Given the description of an element on the screen output the (x, y) to click on. 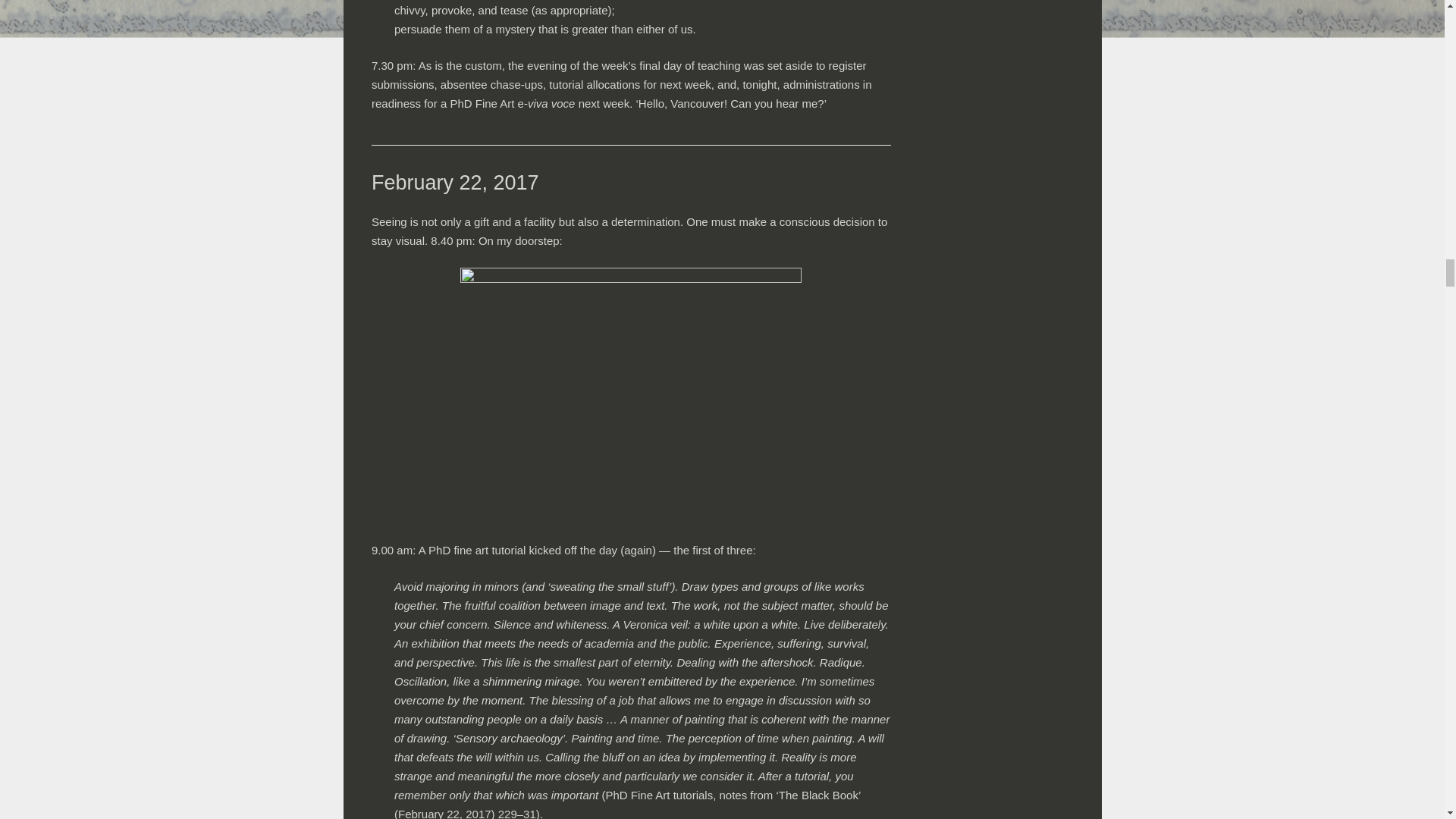
February 22, 2017 (454, 182)
